Given the description of an element on the screen output the (x, y) to click on. 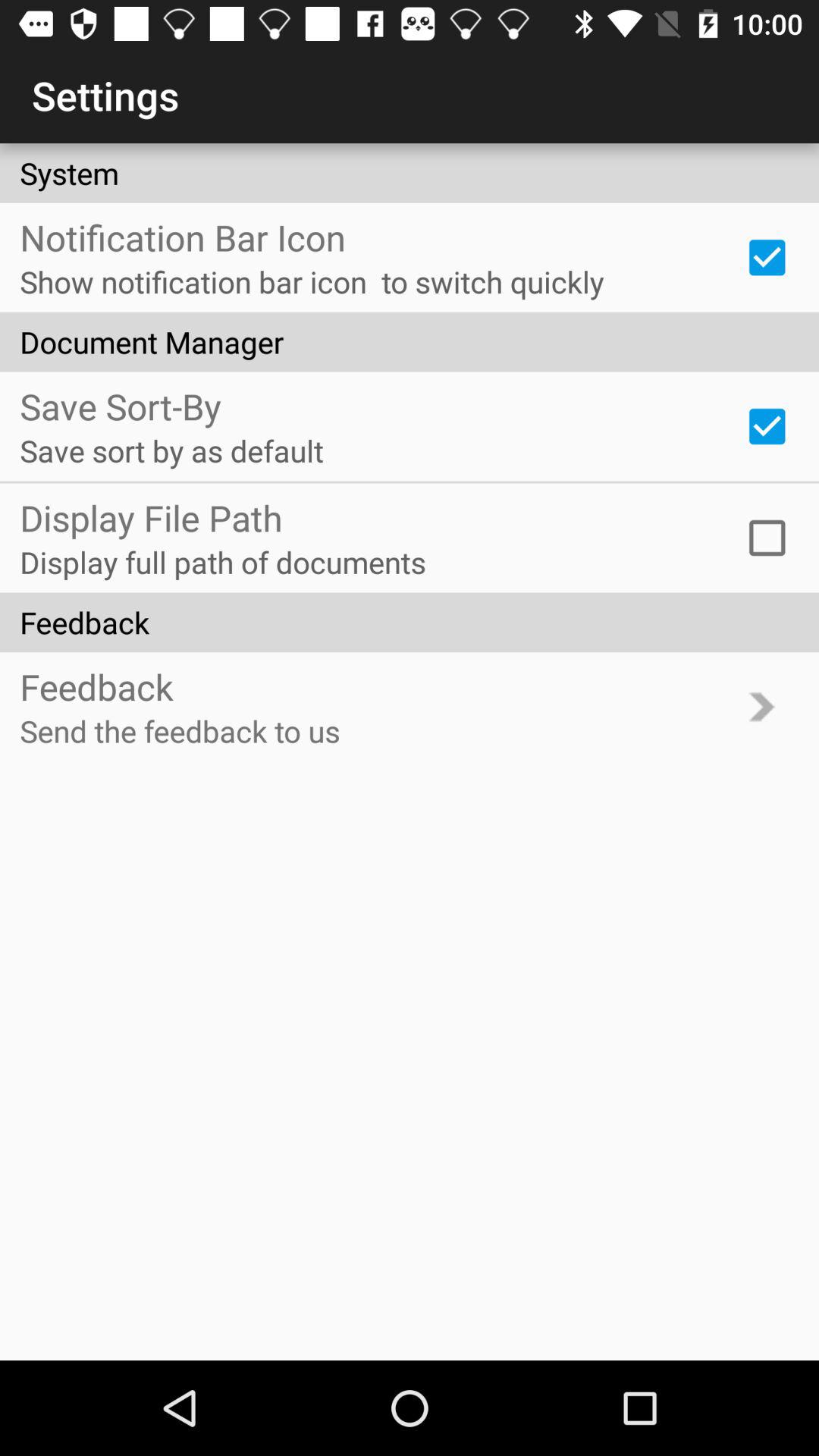
launch item below document manager (767, 426)
